Given the description of an element on the screen output the (x, y) to click on. 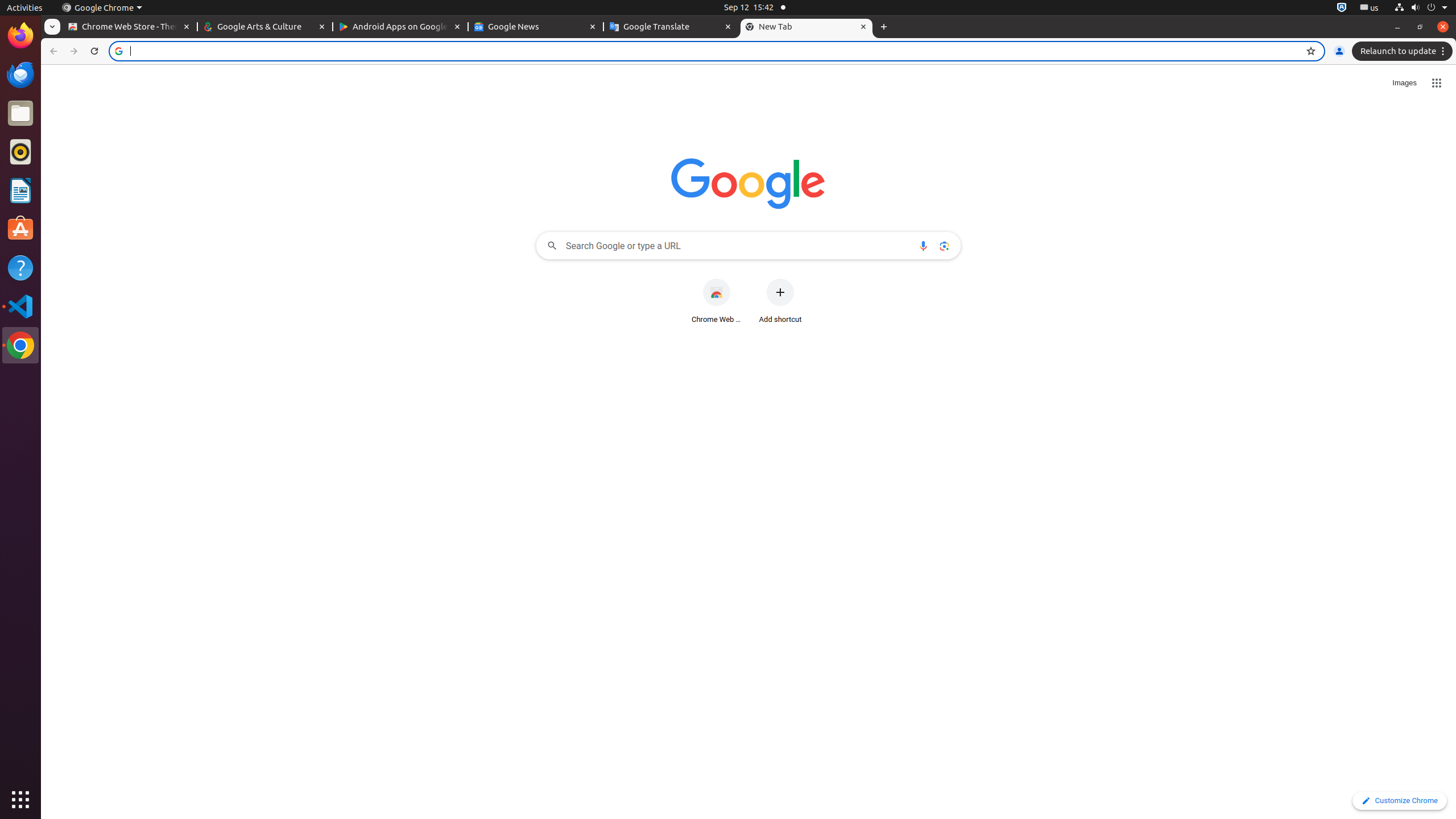
Relaunch to update Element type: push-button (1403, 50)
Firefox Web Browser Element type: push-button (20, 35)
:1.72/StatusNotifierItem Element type: menu (1341, 7)
Search Google or type a URL Element type: combo-box (748, 245)
Rhythmbox Element type: push-button (20, 151)
